Given the description of an element on the screen output the (x, y) to click on. 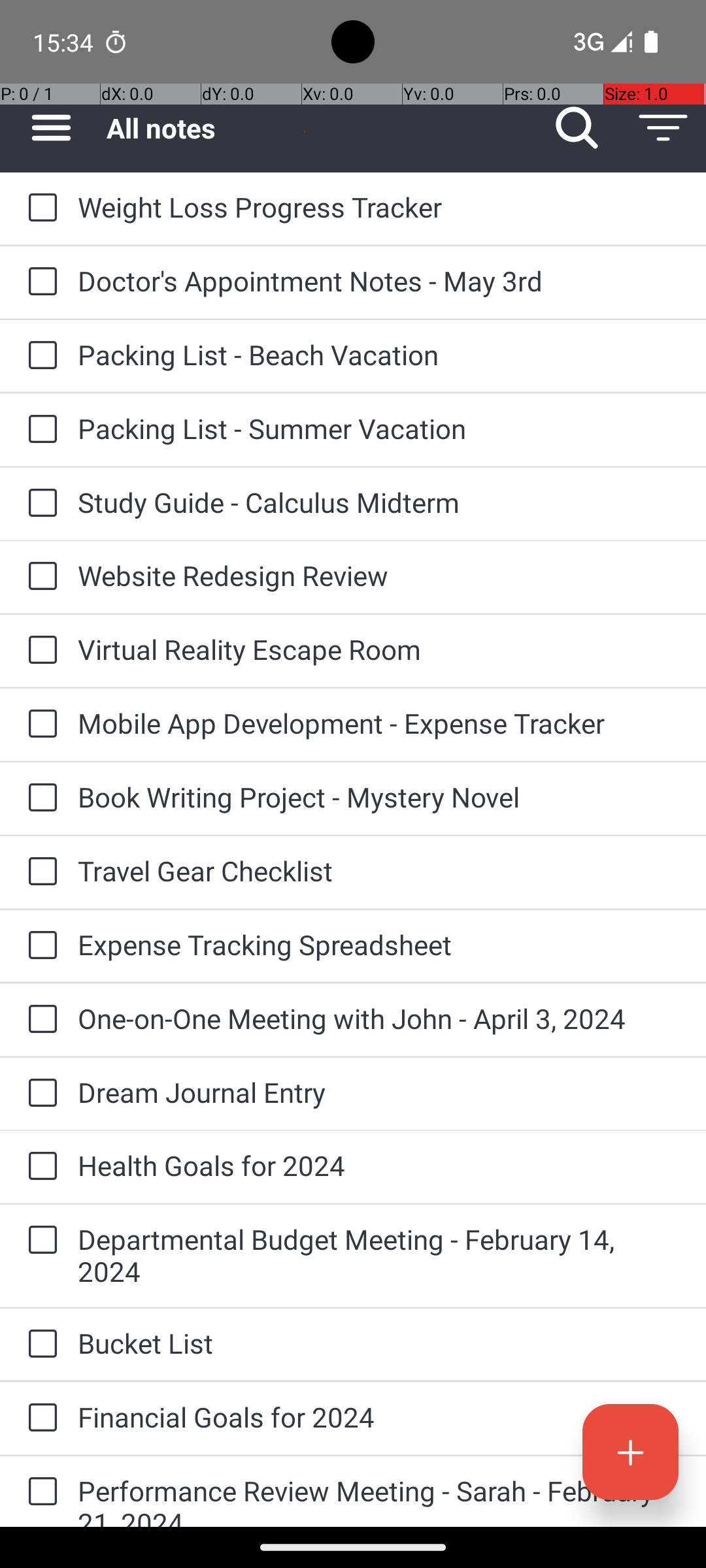
to-do: Weight Loss Progress Tracker Element type: android.widget.CheckBox (38, 208)
Weight Loss Progress Tracker Element type: android.widget.TextView (378, 206)
to-do: Doctor's Appointment Notes - May 3rd Element type: android.widget.CheckBox (38, 282)
Doctor's Appointment Notes - May 3rd Element type: android.widget.TextView (378, 280)
to-do: Packing List - Beach Vacation Element type: android.widget.CheckBox (38, 356)
Packing List - Beach Vacation Element type: android.widget.TextView (378, 354)
to-do: Packing List - Summer Vacation Element type: android.widget.CheckBox (38, 429)
Packing List - Summer Vacation Element type: android.widget.TextView (378, 427)
to-do: Study Guide - Calculus Midterm Element type: android.widget.CheckBox (38, 503)
Study Guide - Calculus Midterm Element type: android.widget.TextView (378, 501)
to-do: Website Redesign Review Element type: android.widget.CheckBox (38, 576)
Website Redesign Review Element type: android.widget.TextView (378, 574)
to-do: Virtual Reality Escape Room Element type: android.widget.CheckBox (38, 650)
to-do: Mobile App Development - Expense Tracker Element type: android.widget.CheckBox (38, 724)
Mobile App Development - Expense Tracker Element type: android.widget.TextView (378, 722)
to-do: Book Writing Project - Mystery Novel Element type: android.widget.CheckBox (38, 798)
Book Writing Project - Mystery Novel Element type: android.widget.TextView (378, 796)
to-do: Travel Gear Checklist Element type: android.widget.CheckBox (38, 872)
Travel Gear Checklist Element type: android.widget.TextView (378, 870)
to-do: Expense Tracking Spreadsheet Element type: android.widget.CheckBox (38, 945)
Expense Tracking Spreadsheet Element type: android.widget.TextView (378, 944)
to-do: One-on-One Meeting with John - April 3, 2024 Element type: android.widget.CheckBox (38, 1019)
One-on-One Meeting with John - April 3, 2024 Element type: android.widget.TextView (378, 1017)
to-do: Dream Journal Entry Element type: android.widget.CheckBox (38, 1093)
Dream Journal Entry Element type: android.widget.TextView (378, 1091)
to-do: Health Goals for 2024 Element type: android.widget.CheckBox (38, 1166)
Health Goals for 2024 Element type: android.widget.TextView (378, 1164)
to-do: Departmental Budget Meeting - February 14, 2024 Element type: android.widget.CheckBox (38, 1240)
Departmental Budget Meeting - February 14, 2024 Element type: android.widget.TextView (378, 1254)
to-do: Bucket List Element type: android.widget.CheckBox (38, 1344)
Bucket List Element type: android.widget.TextView (378, 1342)
to-do: Financial Goals for 2024 Element type: android.widget.CheckBox (38, 1418)
Financial Goals for 2024 Element type: android.widget.TextView (378, 1416)
to-do: Performance Review Meeting - Sarah - February 21, 2024 Element type: android.widget.CheckBox (38, 1491)
Performance Review Meeting - Sarah - February 21, 2024 Element type: android.widget.TextView (378, 1498)
